Given the description of an element on the screen output the (x, y) to click on. 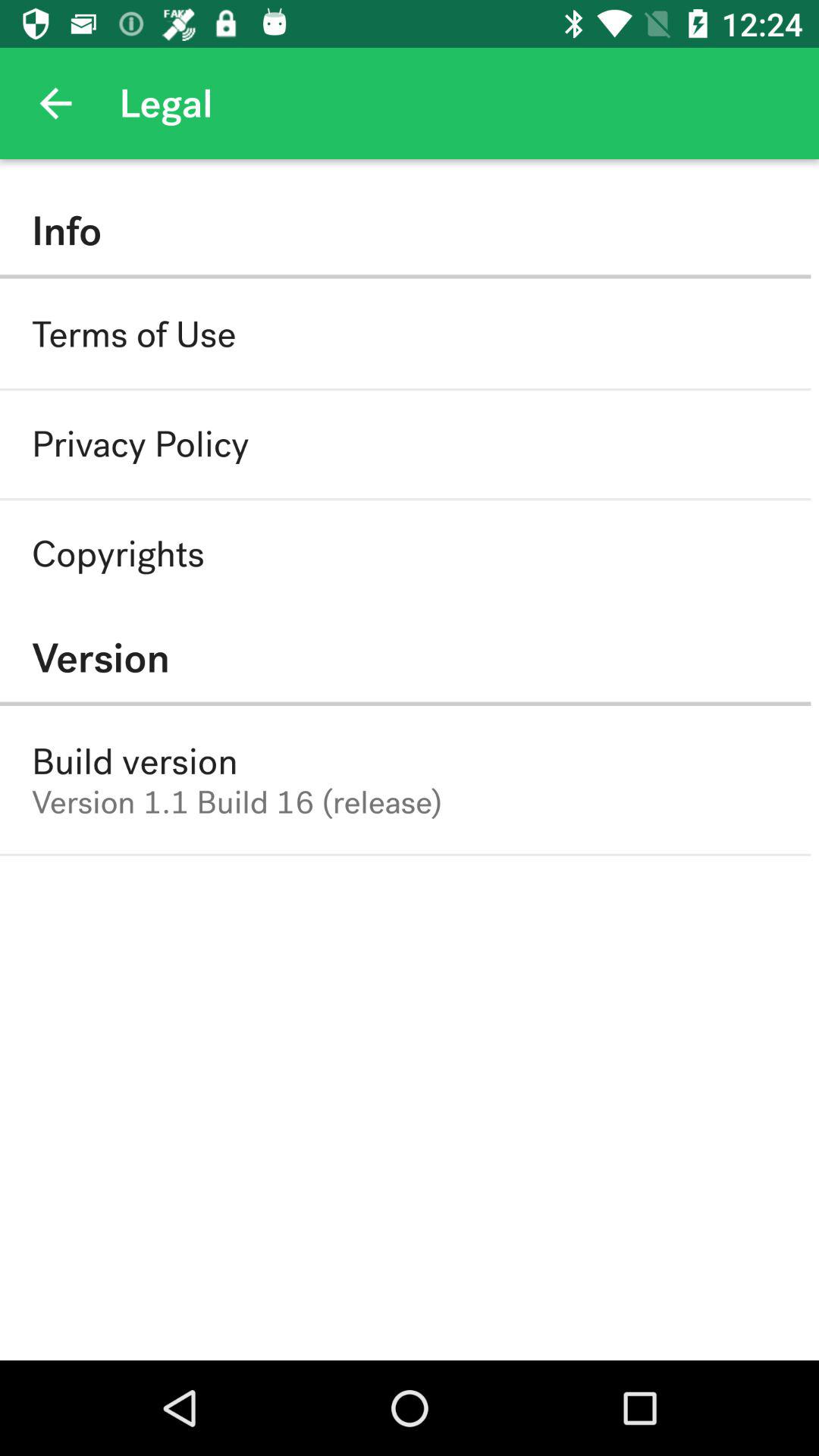
turn on item below terms of use (140, 444)
